Given the description of an element on the screen output the (x, y) to click on. 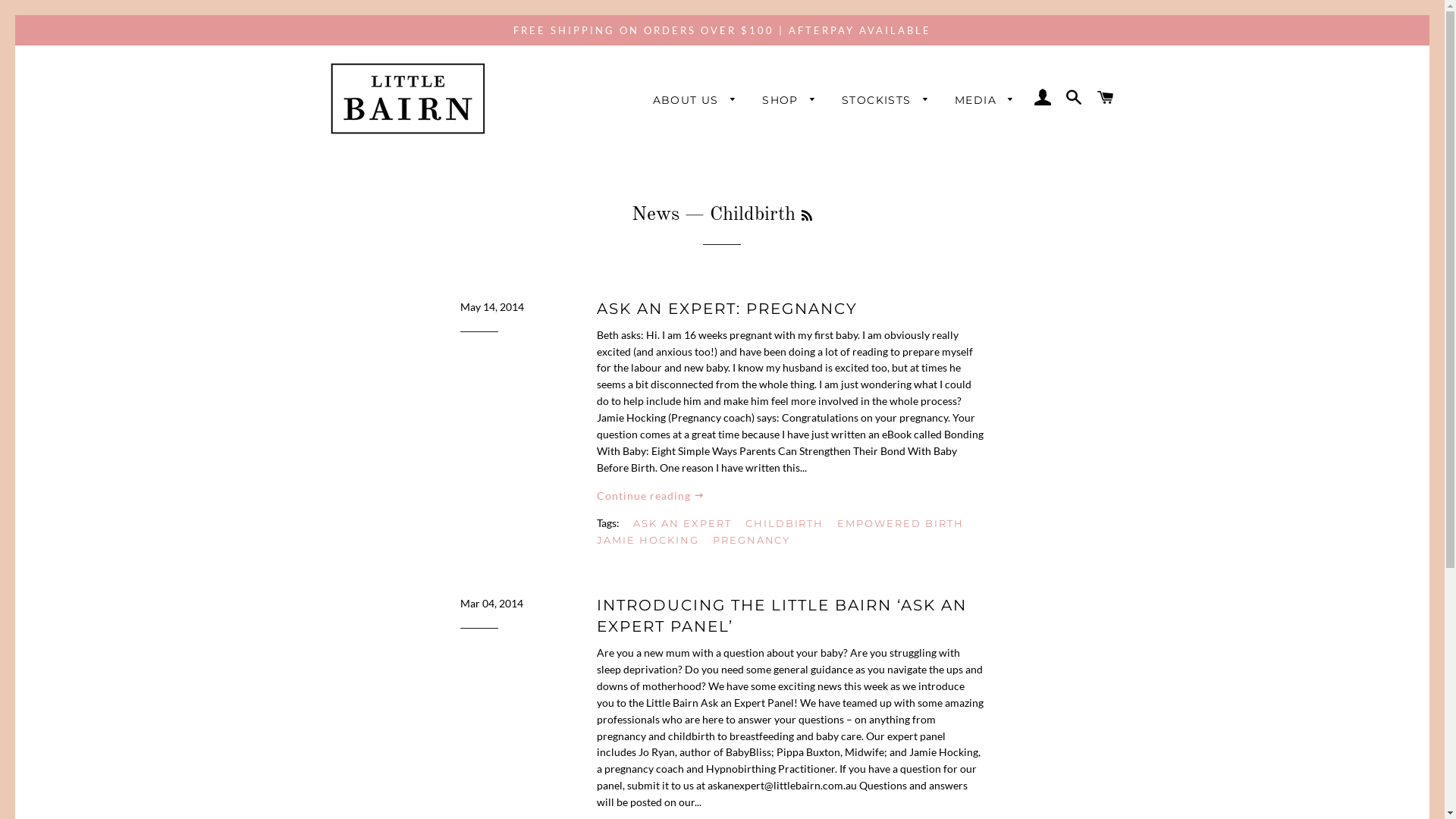
SEARCH Element type: text (1074, 98)
CHILDBIRTH Element type: text (790, 523)
Continue reading Element type: text (650, 495)
JAMIE HOCKING Element type: text (652, 539)
News Element type: text (655, 214)
ASK AN EXPERT Element type: text (687, 523)
PREGNANCY Element type: text (757, 539)
CART Element type: text (1105, 98)
ASK AN EXPERT: PREGNANCY Element type: text (726, 308)
STOCKISTS Element type: text (885, 100)
MEDIA Element type: text (984, 100)
RSS Element type: text (806, 216)
LOG IN Element type: text (1042, 98)
EMPOWERED BIRTH Element type: text (905, 523)
ABOUT US Element type: text (695, 100)
SHOP Element type: text (789, 100)
